Given the description of an element on the screen output the (x, y) to click on. 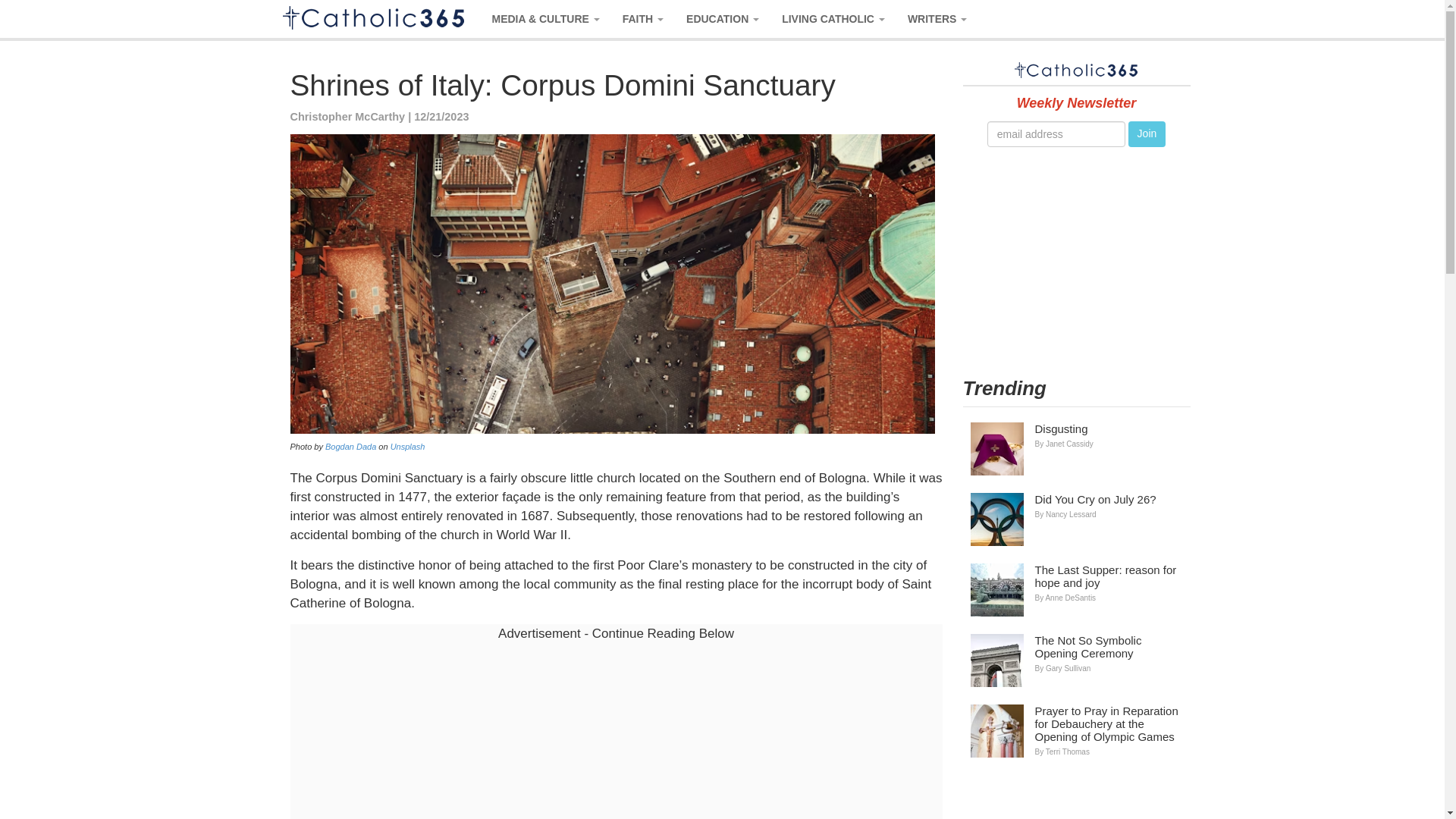
Unsplash (407, 446)
Bogdan Dada (349, 446)
LIVING CATHOLIC (833, 18)
FAITH (643, 18)
Join (1147, 134)
EDUCATION (722, 18)
WRITERS (937, 18)
